Given the description of an element on the screen output the (x, y) to click on. 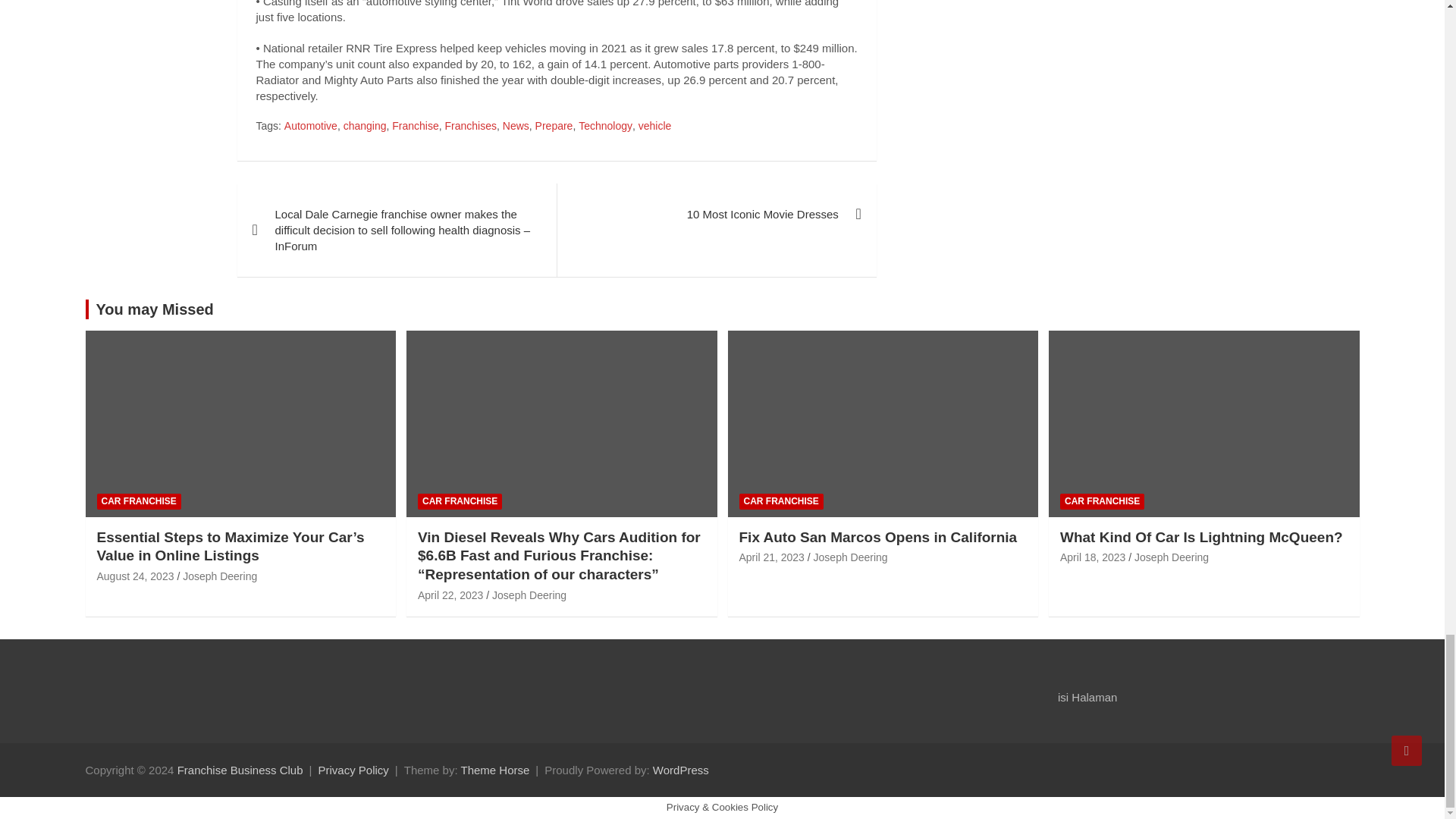
Prepare (554, 126)
Franchise (414, 126)
WordPress (680, 769)
What Kind Of Car Is Lightning McQueen? (1092, 557)
News (515, 126)
vehicle (655, 126)
Fix Auto San Marcos Opens in California (770, 557)
changing (365, 126)
10 Most Iconic Movie Dresses (716, 213)
Technology (604, 126)
